Given the description of an element on the screen output the (x, y) to click on. 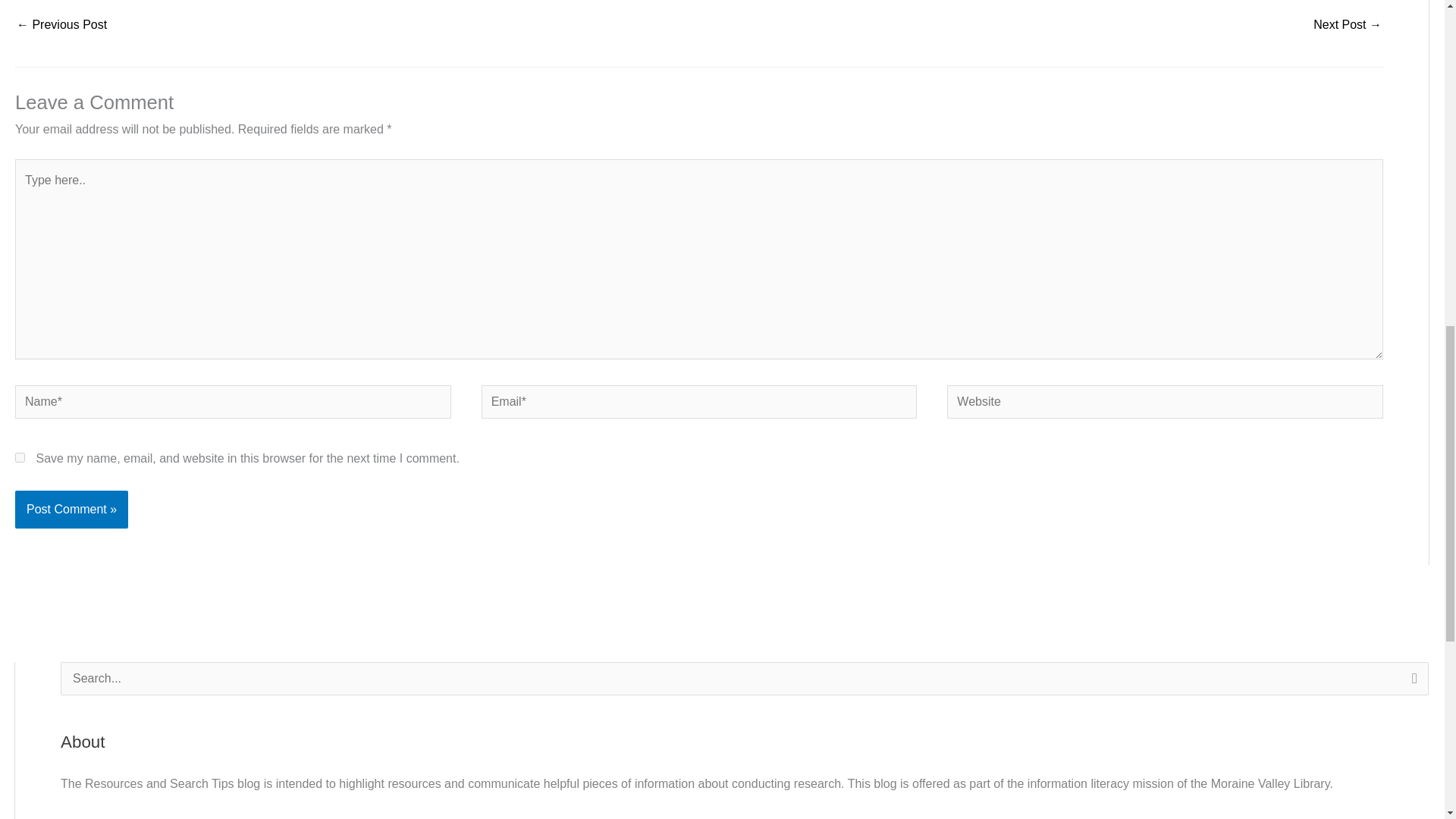
The Nocebo Effect (1347, 26)
Search (1411, 682)
yes (19, 457)
Search (1411, 682)
Search (1411, 682)
